Given the description of an element on the screen output the (x, y) to click on. 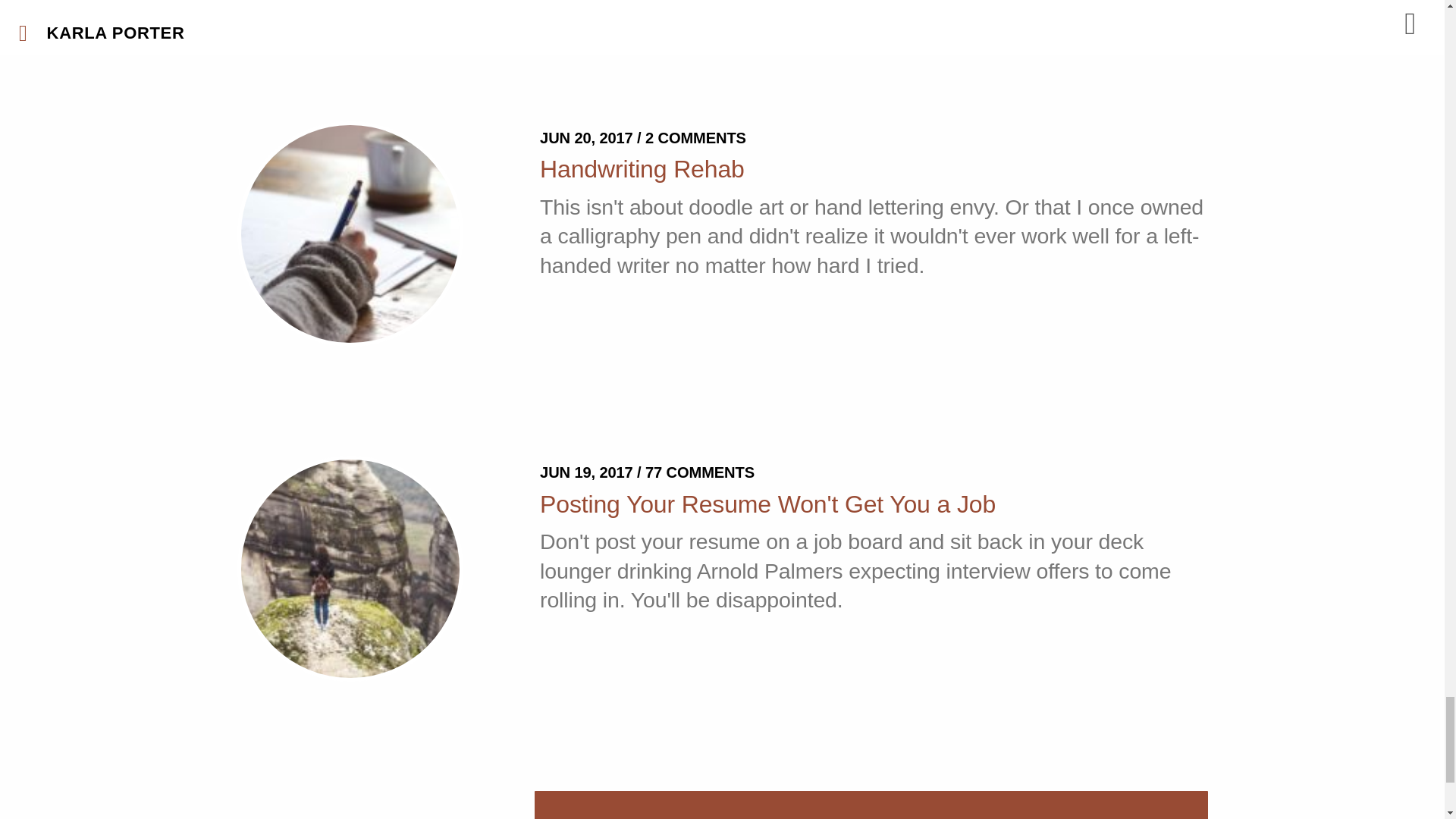
  ALL 369 MUSINGS (871, 805)
